Given the description of an element on the screen output the (x, y) to click on. 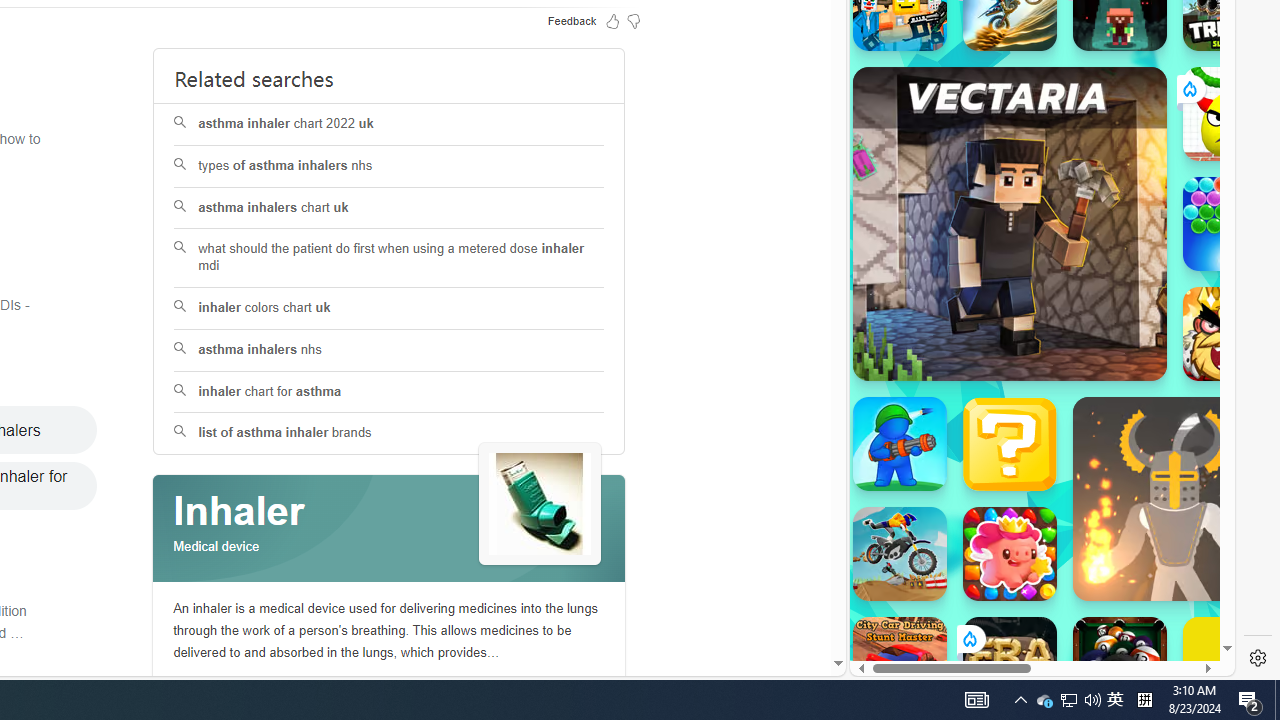
Search more (792, 604)
City Car Driving: Stunt Master (899, 664)
Vectaria.io (1009, 223)
8 Ball Pool With Buddies (1119, 664)
asthma inhalers nhs (388, 349)
list of asthma inhaler brands (389, 434)
list of asthma inhaler brands (388, 434)
Hills of Steel (943, 200)
Search results from poki.com (1005, 59)
Ragdoll Hit Ragdoll Hit (1174, 498)
inhaler chart for asthma (389, 391)
Bubble Shooter (1229, 223)
Match Arena Match Arena (1009, 553)
Bubble Shooter Bubble Shooter (1229, 223)
